Given the description of an element on the screen output the (x, y) to click on. 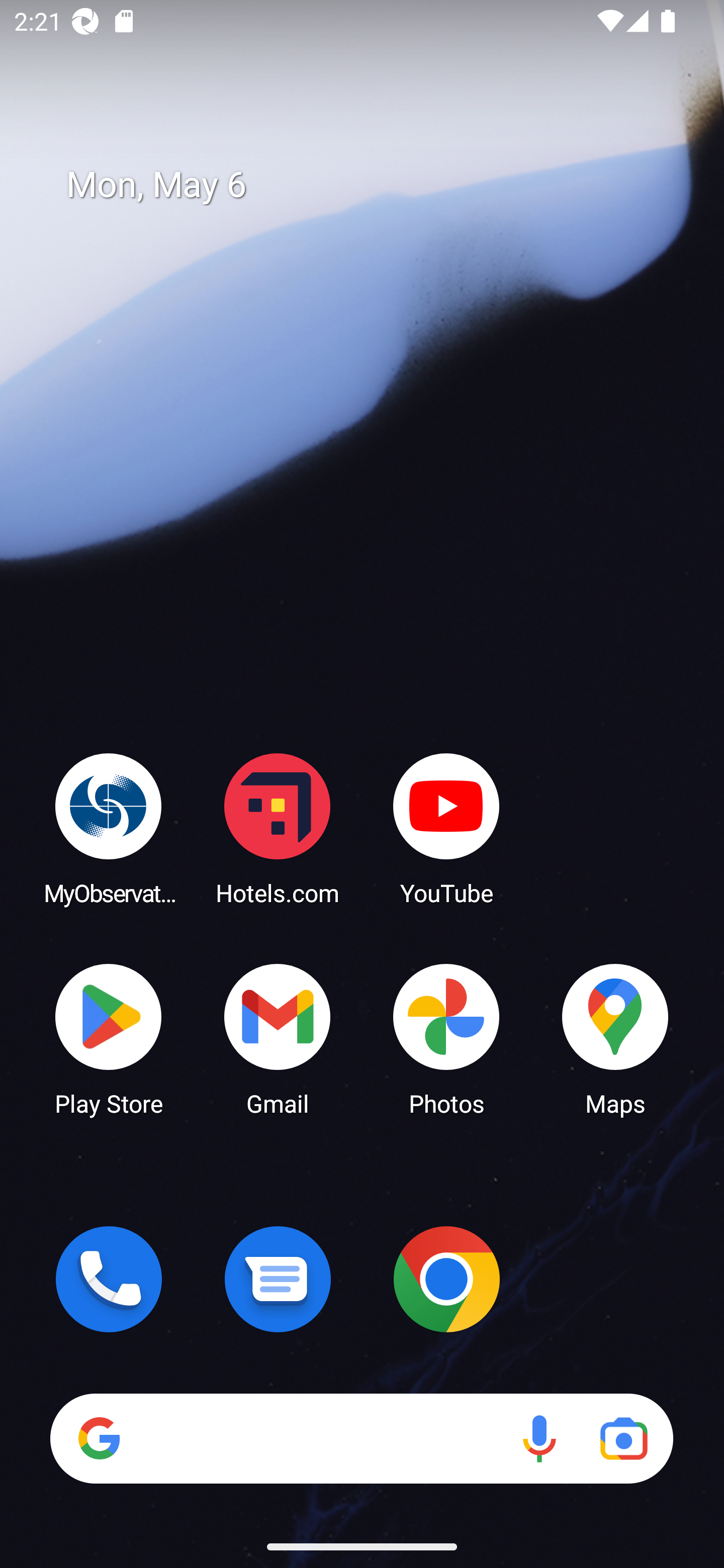
Mon, May 6 (375, 184)
MyObservatory (108, 828)
Hotels.com (277, 828)
YouTube (445, 828)
Play Store (108, 1038)
Gmail (277, 1038)
Photos (445, 1038)
Maps (615, 1038)
Phone (108, 1279)
Messages (277, 1279)
Chrome (446, 1279)
Search Voice search Google Lens (361, 1438)
Voice search (539, 1438)
Google Lens (623, 1438)
